Given the description of an element on the screen output the (x, y) to click on. 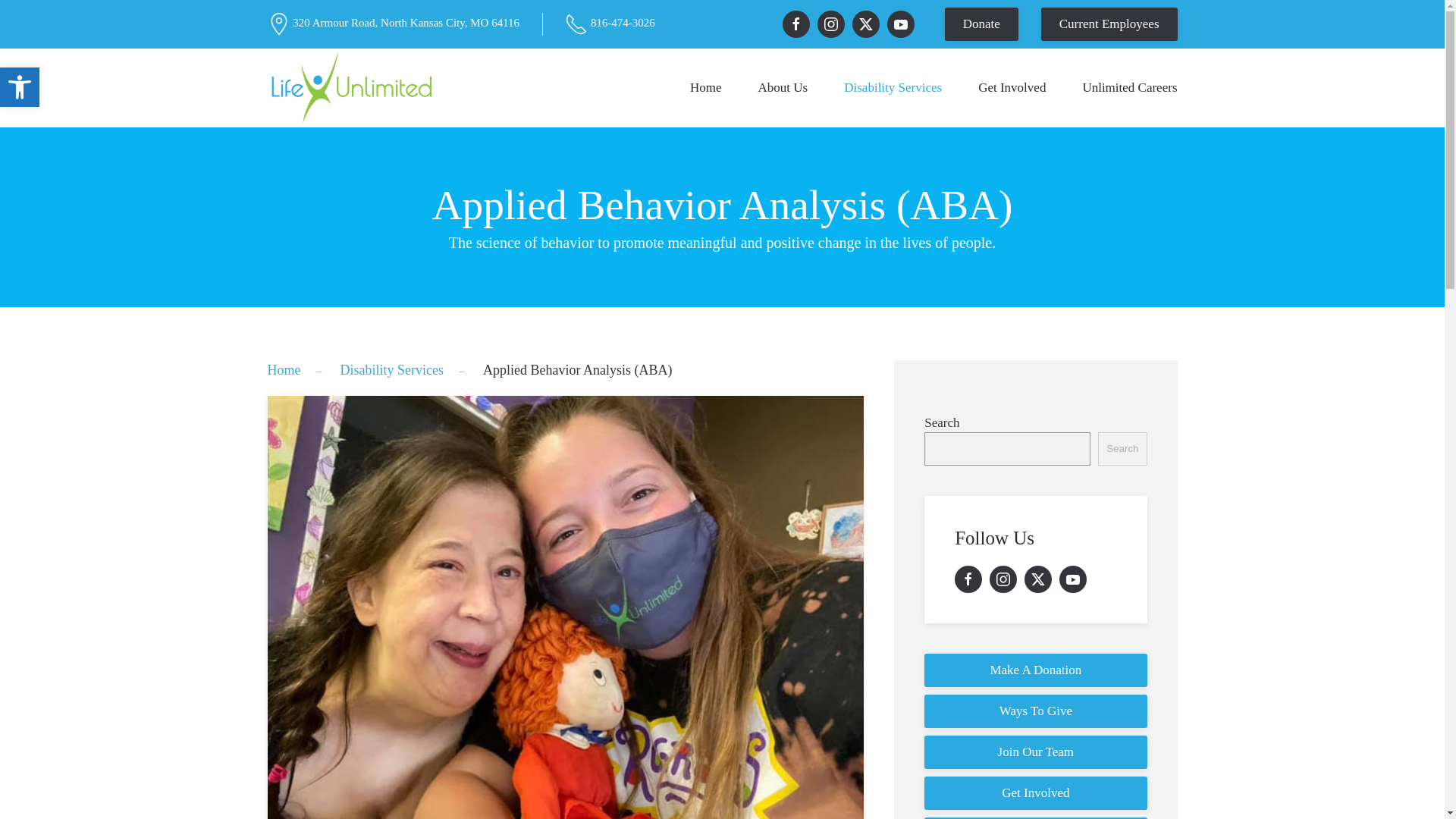
320 Armour Road, North Kansas City, MO 64116 (405, 22)
816-474-3026 (623, 22)
Accessibility Tools (19, 87)
Accessibility Tools (19, 87)
